Given the description of an element on the screen output the (x, y) to click on. 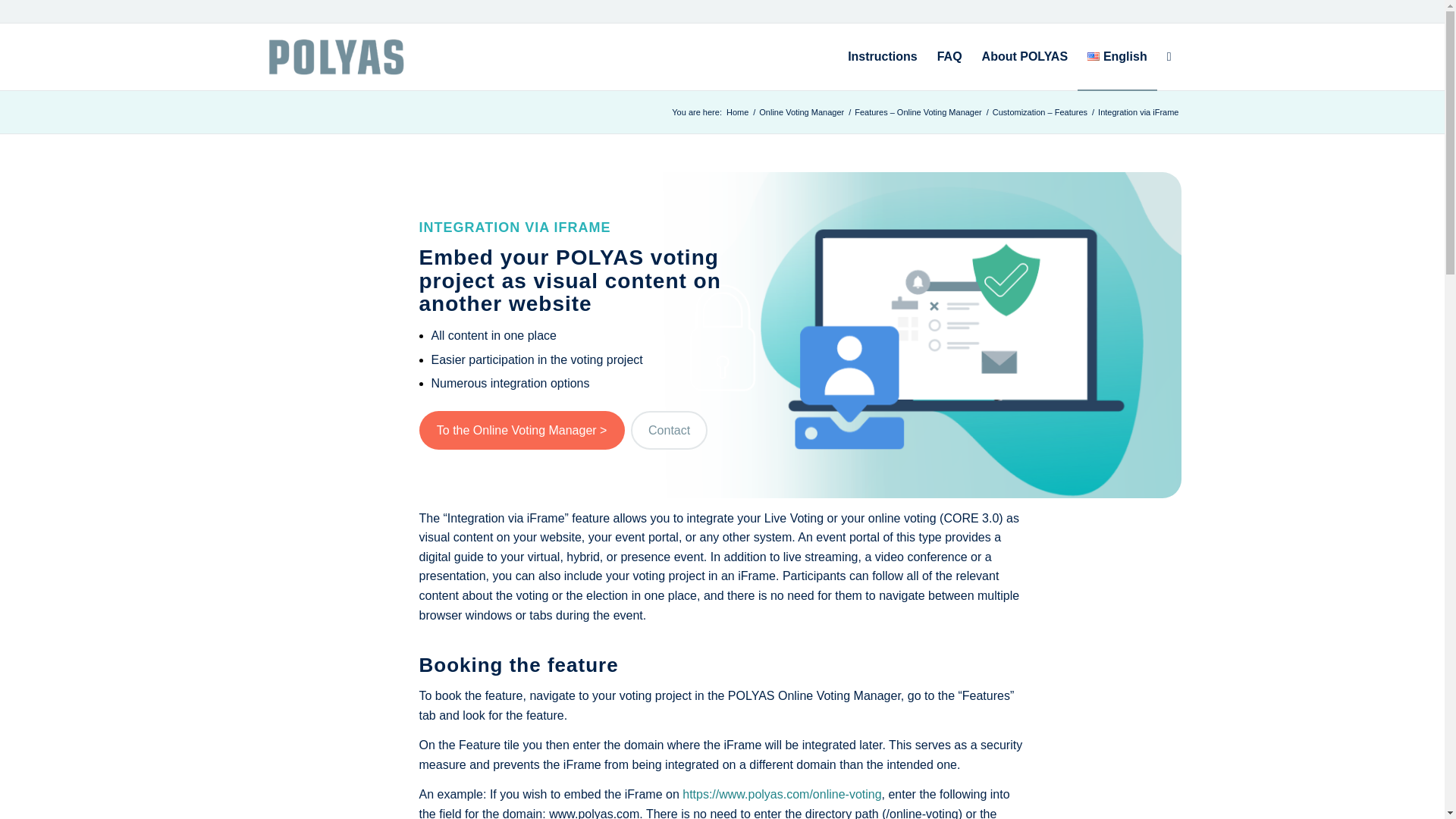
Online Voting Manager (801, 112)
Home (737, 112)
Instructions (882, 56)
Contact (668, 430)
English (1117, 56)
POLYAS Helpcenter (737, 112)
About POLYAS (1025, 56)
Online Voting Manager (801, 112)
